Given the description of an element on the screen output the (x, y) to click on. 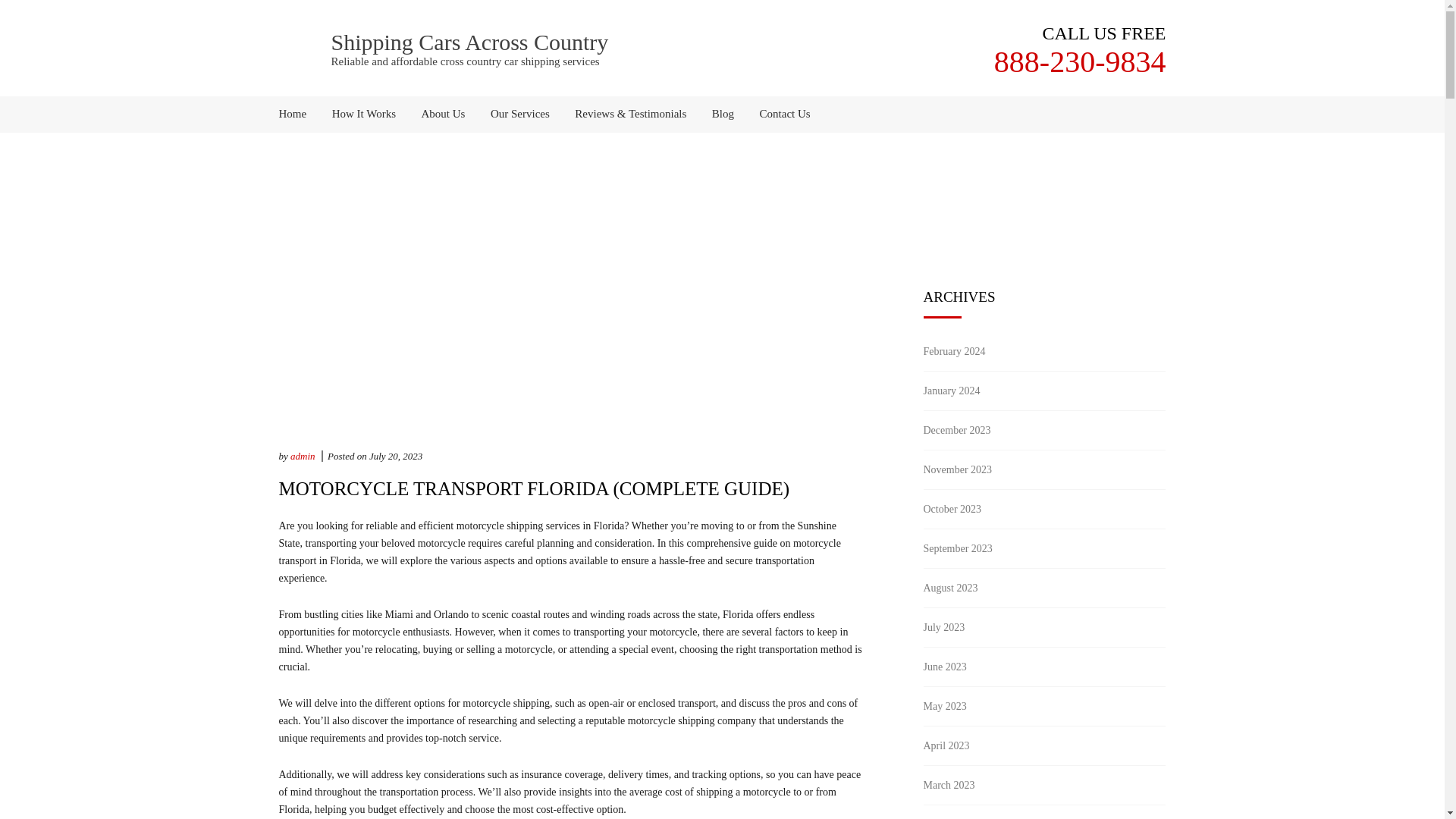
Our Services (519, 114)
Contact Us (779, 114)
Home (298, 114)
Shipping Cars Across Country (469, 42)
How It Works (363, 114)
admin (302, 455)
888-230-9834 (1080, 61)
About Us (443, 114)
Blog (722, 114)
Posts by admin (302, 455)
